Given the description of an element on the screen output the (x, y) to click on. 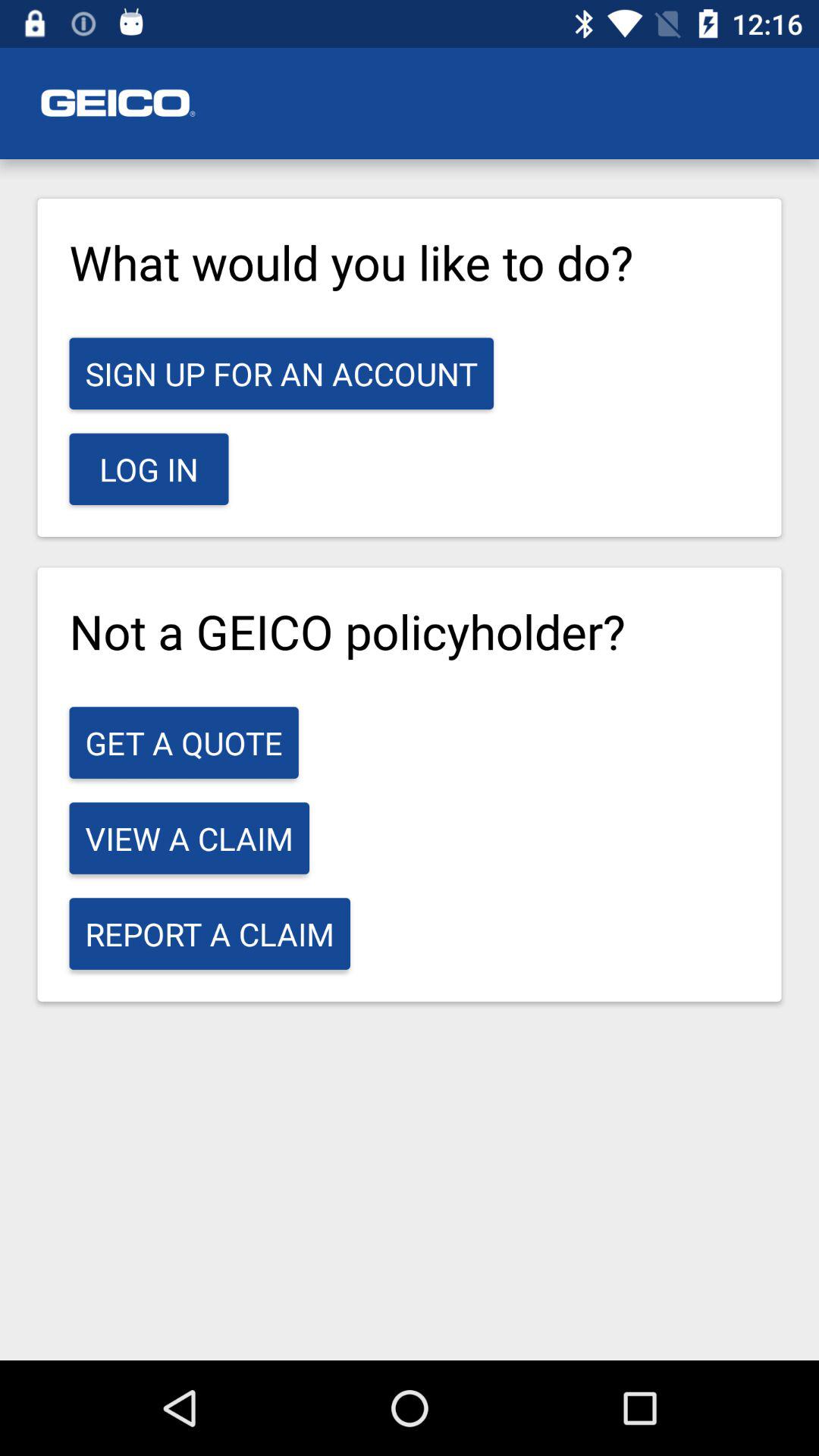
select the item below the sign up for item (148, 468)
